Given the description of an element on the screen output the (x, y) to click on. 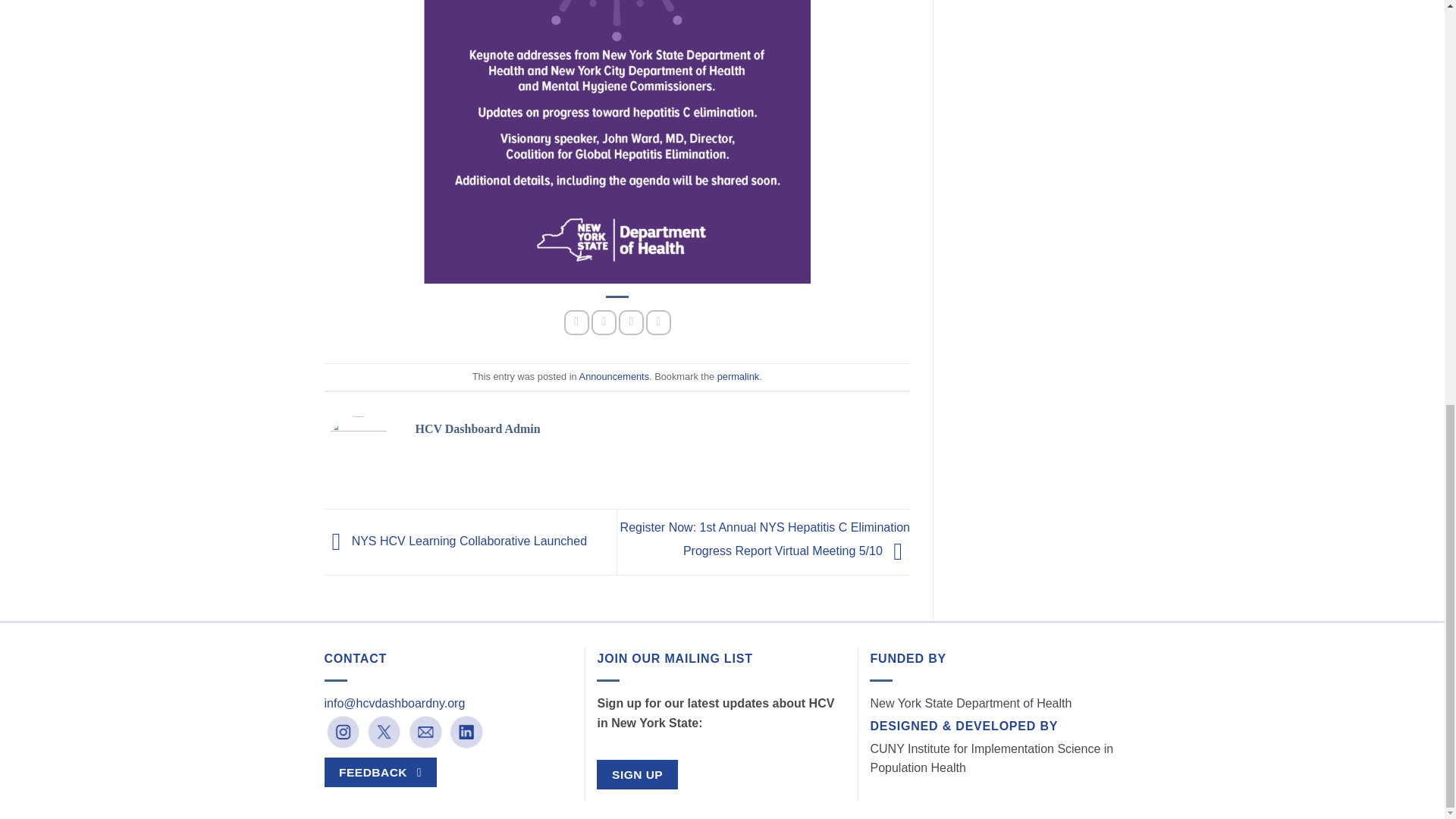
Email to a Friend (630, 322)
Share on Twitter (603, 322)
permalink (737, 376)
Share on Tumblr (658, 322)
NYS HCV Learning Collaborative Launched (456, 540)
Share on Facebook (576, 322)
Announcements (614, 376)
